Given the description of an element on the screen output the (x, y) to click on. 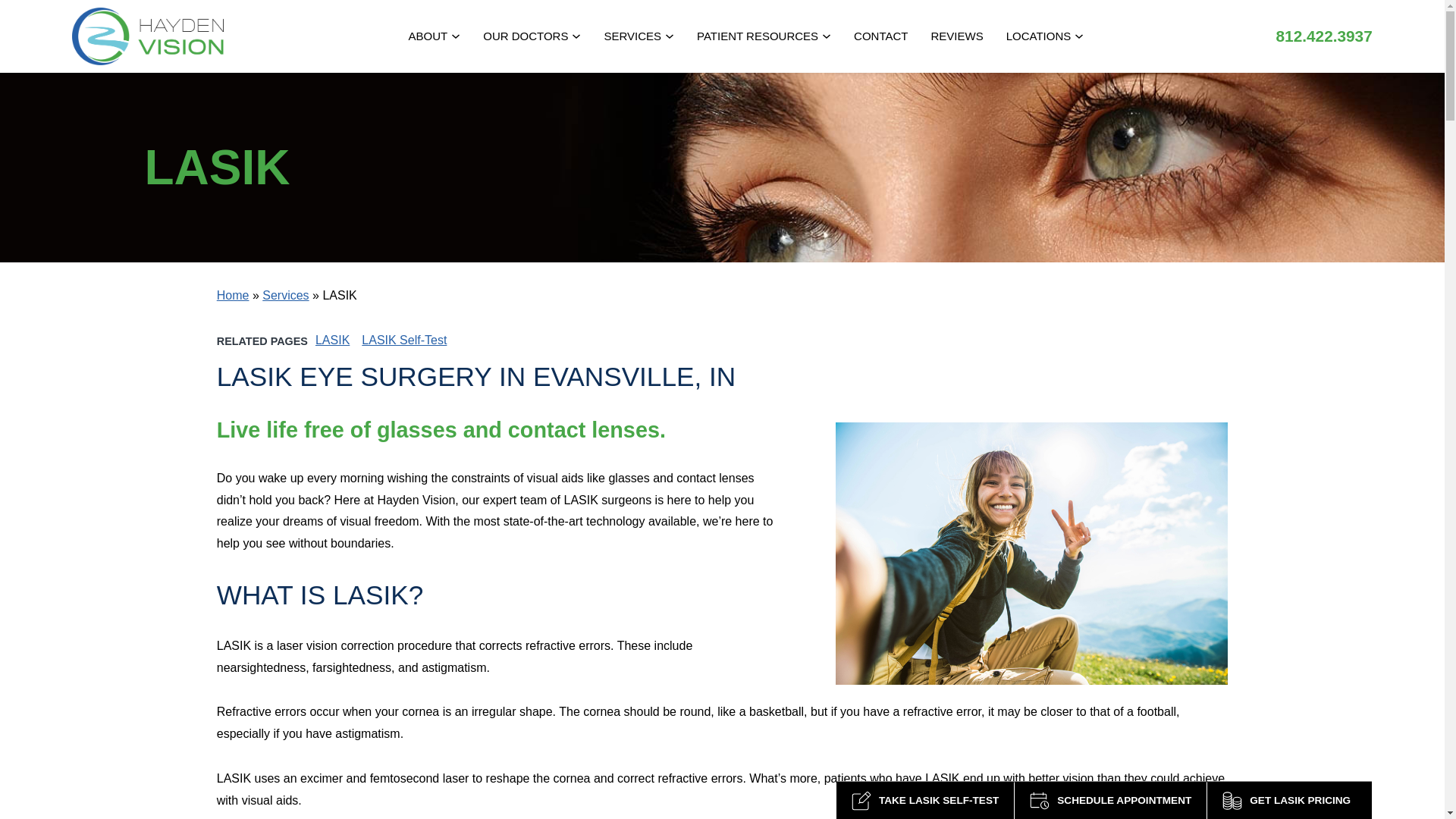
812.422.3937 (1324, 35)
Services (285, 295)
GET LASIK PRICING   (1289, 800)
LOCATIONS (1045, 36)
OUR DOCTORS (532, 36)
CONTACT (880, 36)
TAKE LASIK SELF-TEST (924, 800)
SCHEDULE APPOINTMENT (1110, 800)
REVIEWS (956, 36)
Home (232, 295)
